Given the description of an element on the screen output the (x, y) to click on. 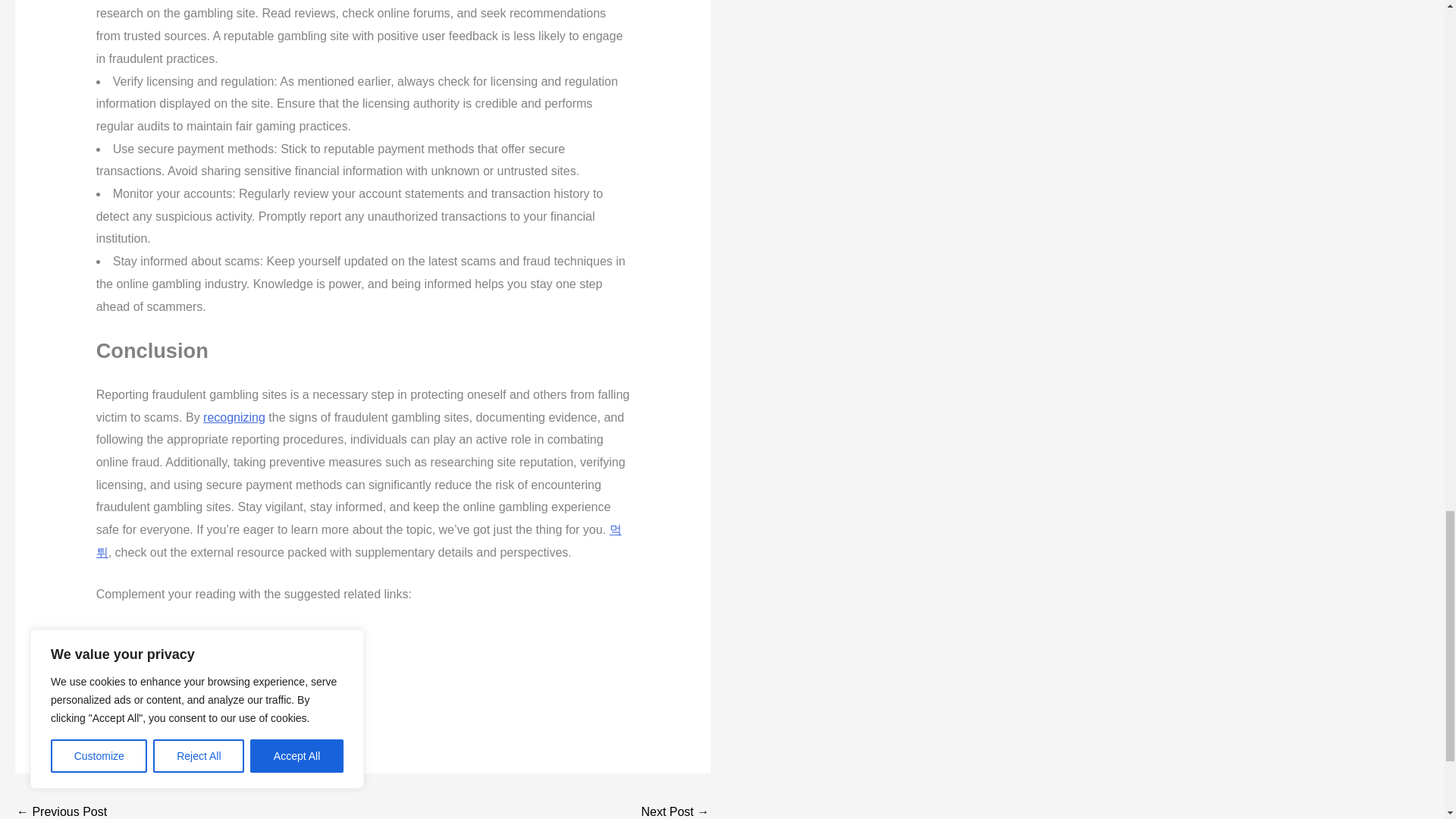
The Power of Data Analysis in Sports Prediction (61, 809)
Expert Analysis on the Real Estate Market in Jurong East (674, 809)
recognizing (233, 417)
Explore this helpful resource (172, 677)
Check out this interesting research (195, 635)
